Given the description of an element on the screen output the (x, y) to click on. 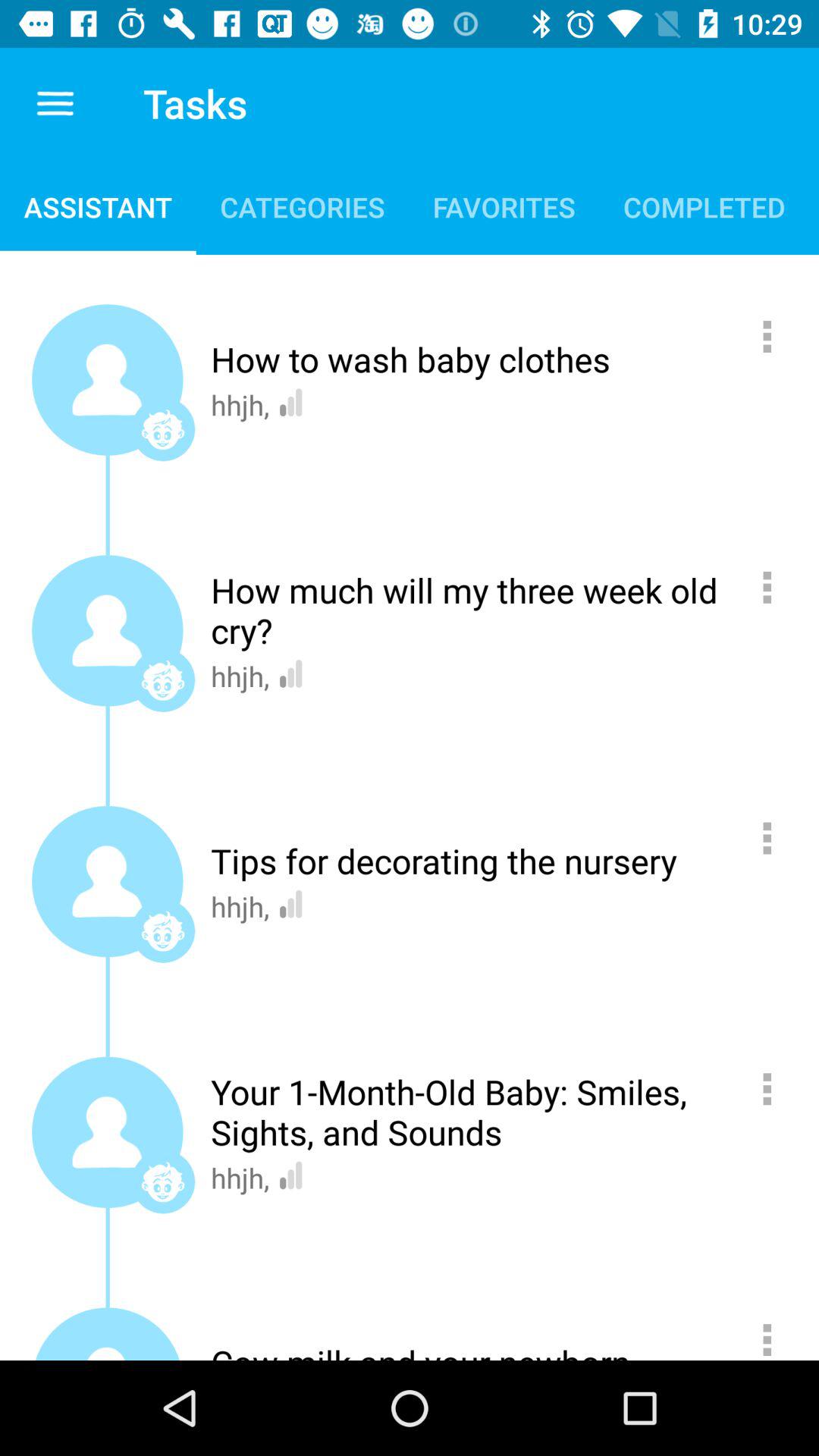
turn off icon above assistant item (56, 103)
